Given the description of an element on the screen output the (x, y) to click on. 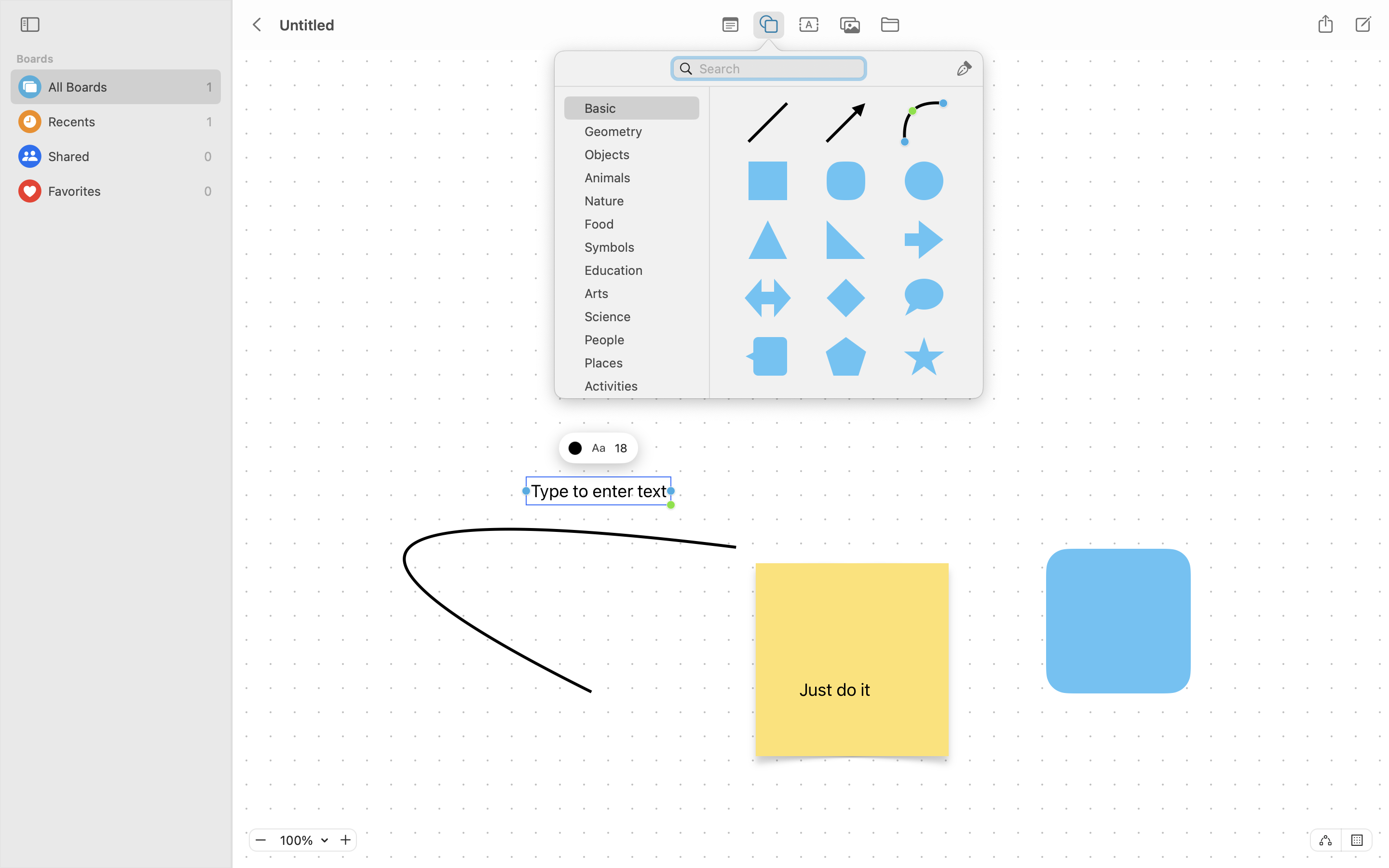
Shared Element type: AXStaticText (123, 155)
Off Element type: AXButton (1324, 839)
Recents Element type: AXStaticText (124, 121)
Work Element type: AXStaticText (636, 435)
